Given the description of an element on the screen output the (x, y) to click on. 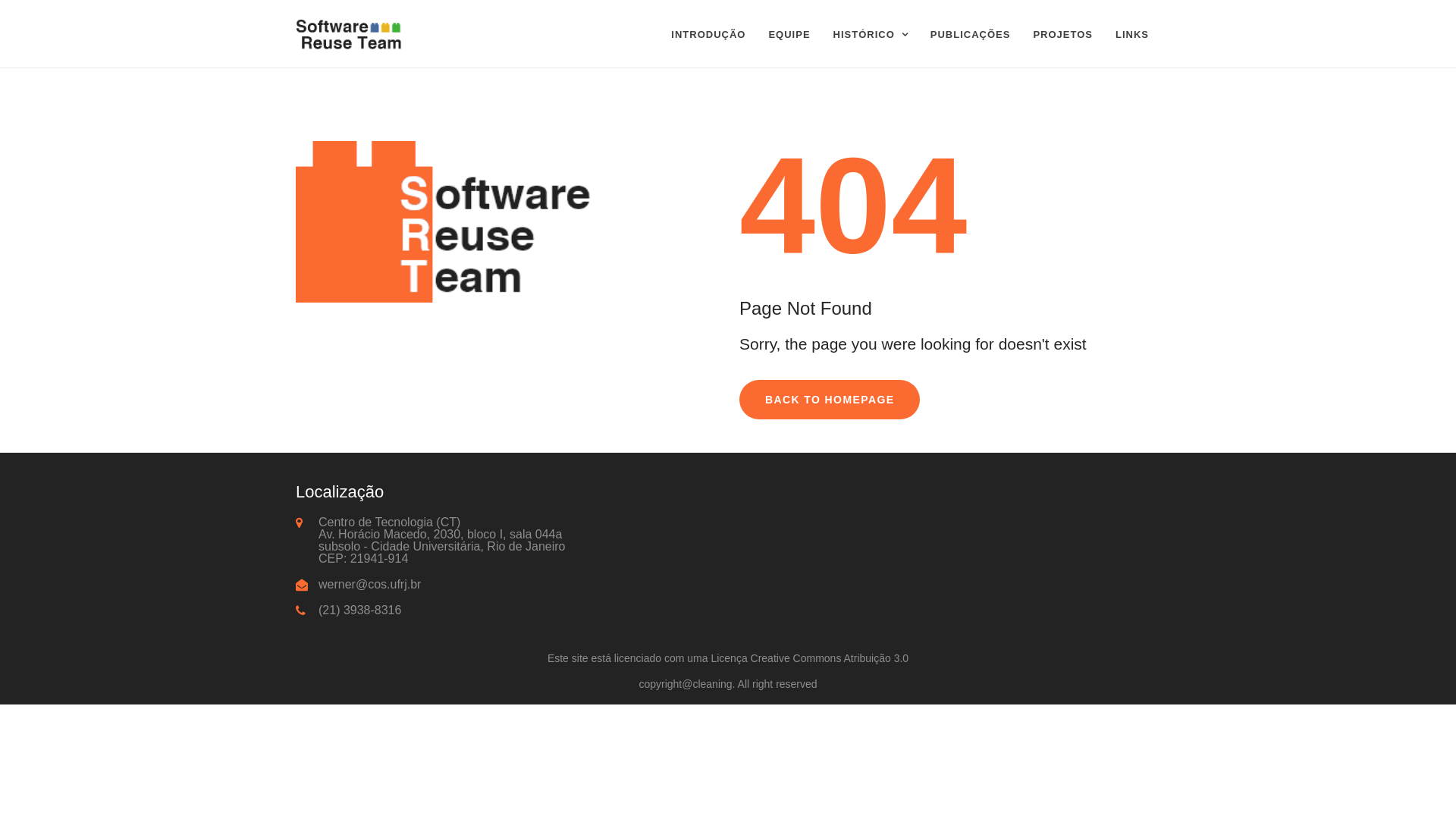
LINKS Element type: text (1132, 34)
copyright@cleaning. All right reserved Element type: text (727, 683)
PROJETOS Element type: text (1062, 34)
EQUIPE Element type: text (788, 34)
BACK TO HOMEPAGE Element type: text (829, 399)
